Given the description of an element on the screen output the (x, y) to click on. 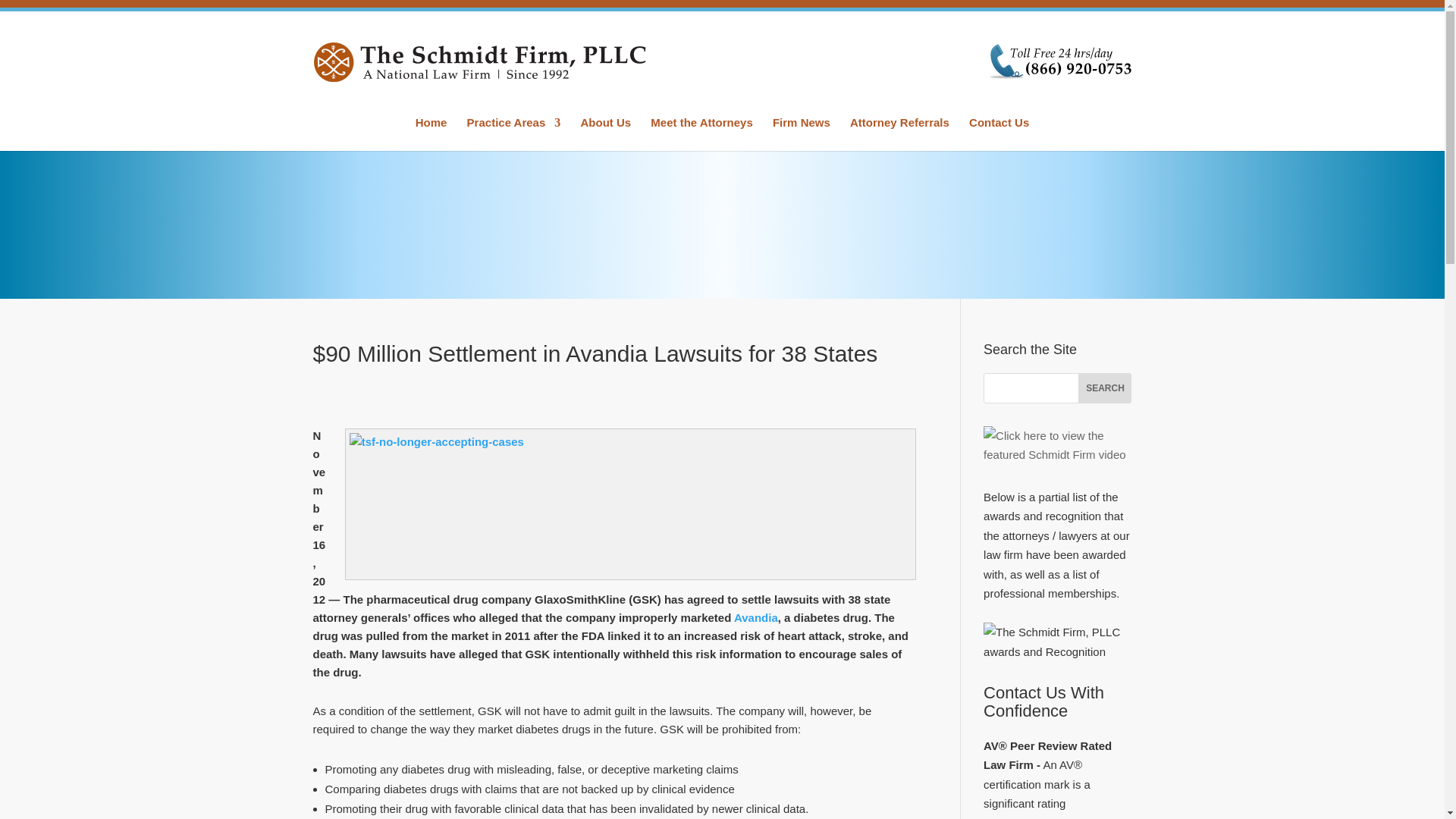
Attorney Referrals (899, 133)
Home (430, 133)
Contact Us (999, 133)
Avandia (755, 617)
Search (1104, 388)
Practice Areas (513, 133)
Search (1104, 388)
About Us (604, 133)
Firm News (801, 133)
Meet the Attorneys (701, 133)
